Given the description of an element on the screen output the (x, y) to click on. 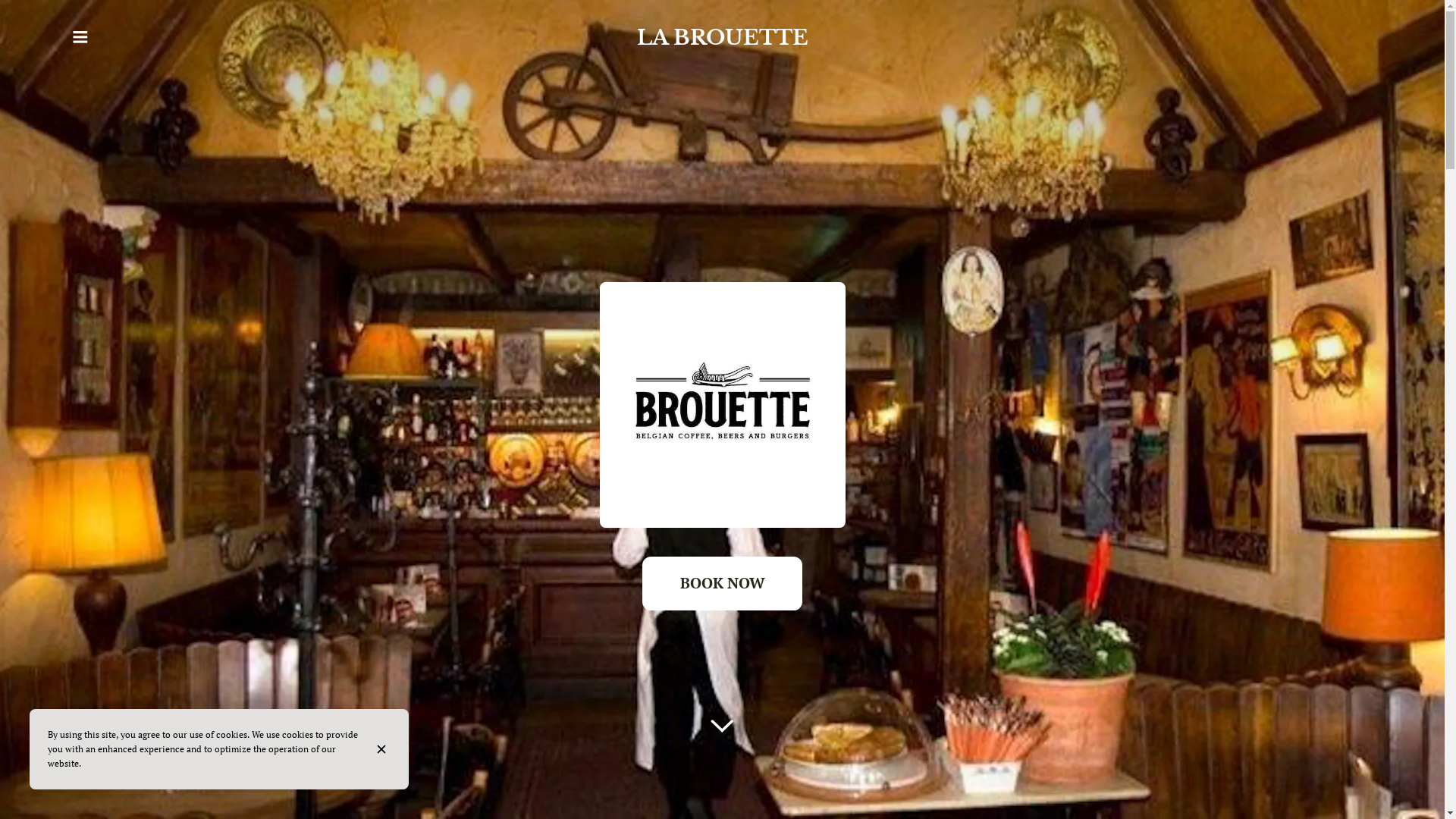
LA BROUETTE
LA BROUETTE Element type: text (721, 36)
Close the cookie information banner Element type: hover (383, 748)
BOOK NOW Element type: text (721, 583)
